Given the description of an element on the screen output the (x, y) to click on. 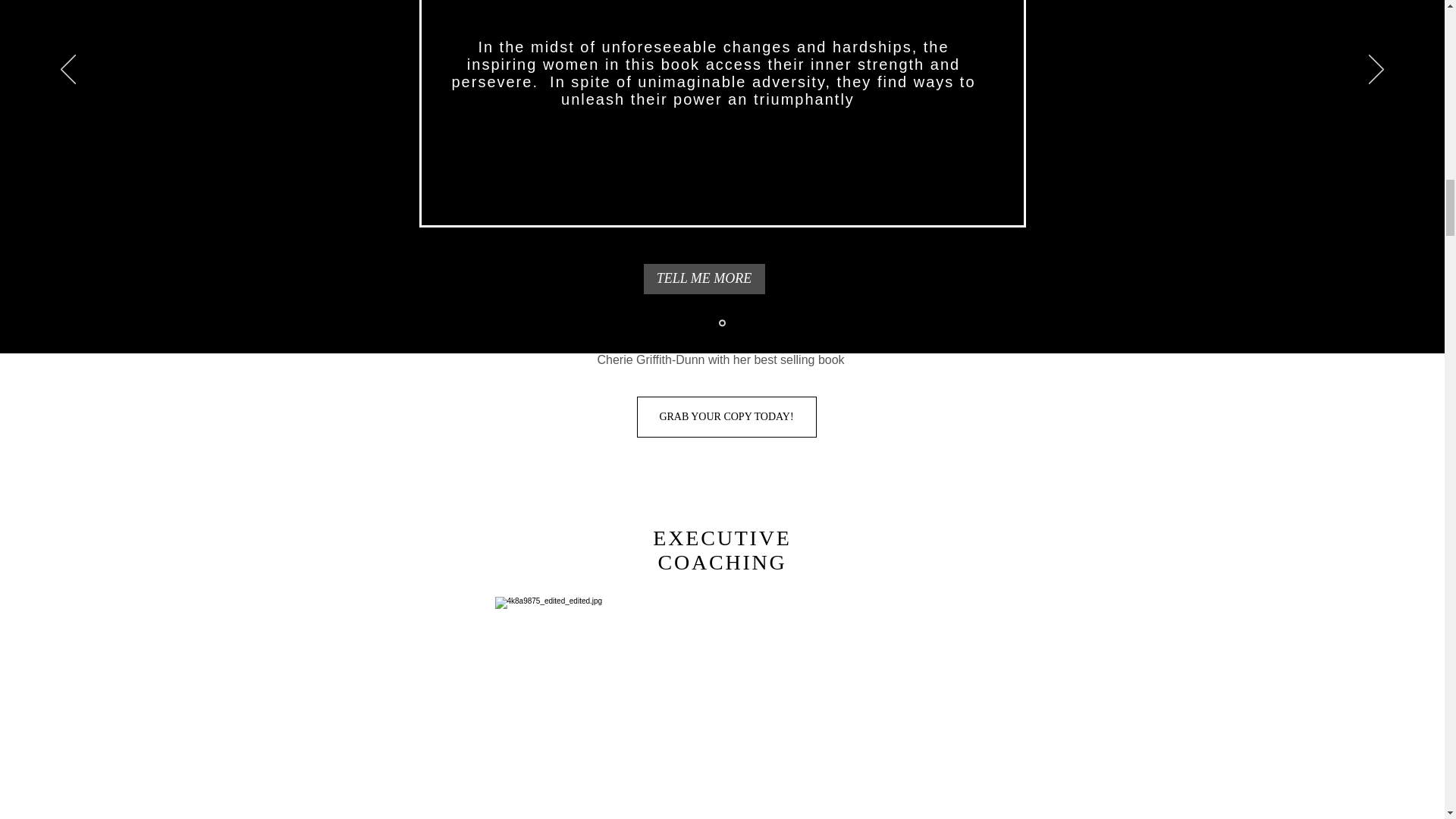
TELL ME MORE (703, 278)
GRAB YOUR COPY TODAY! (726, 416)
